Given the description of an element on the screen output the (x, y) to click on. 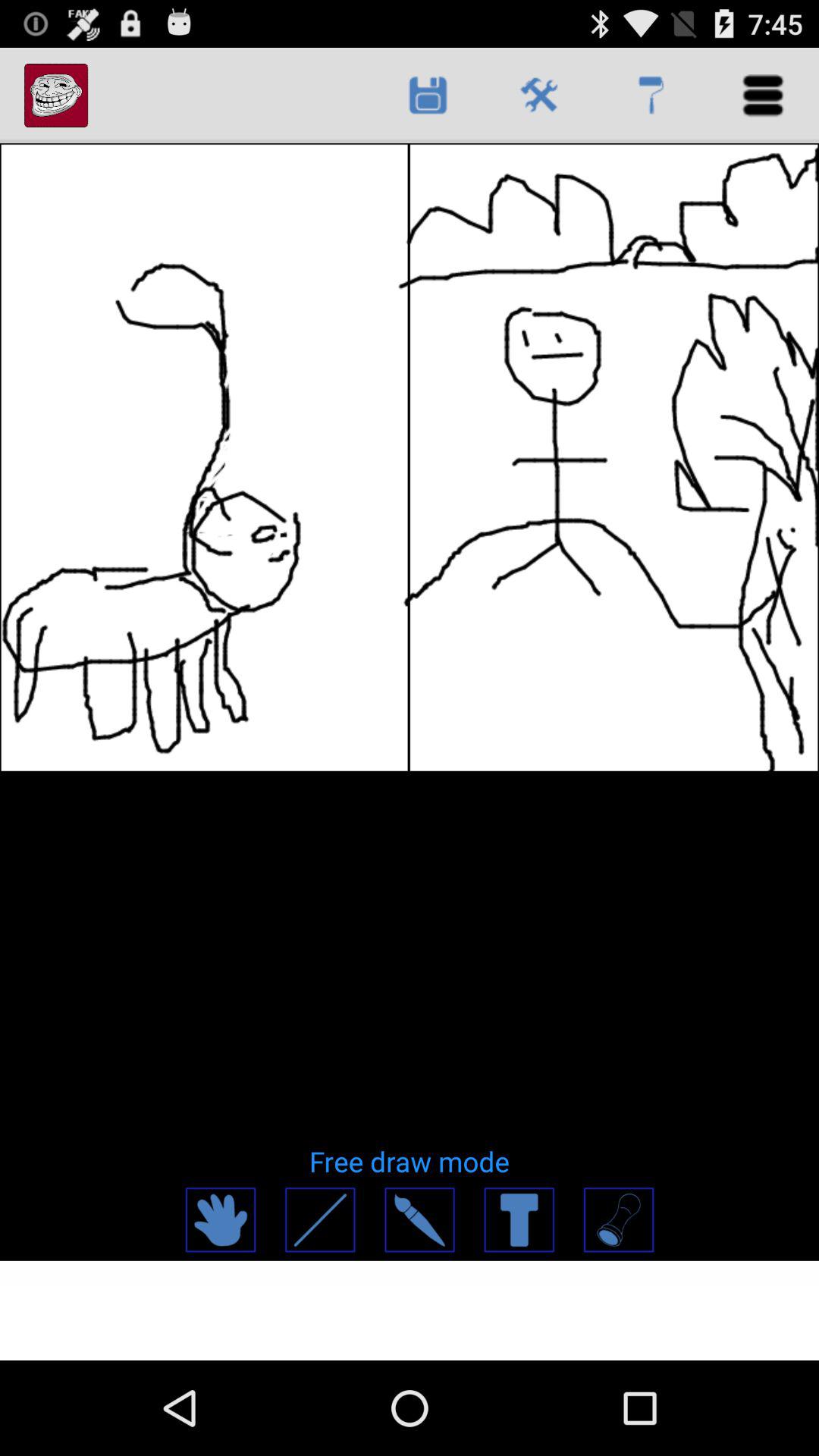
add text (518, 1219)
